Given the description of an element on the screen output the (x, y) to click on. 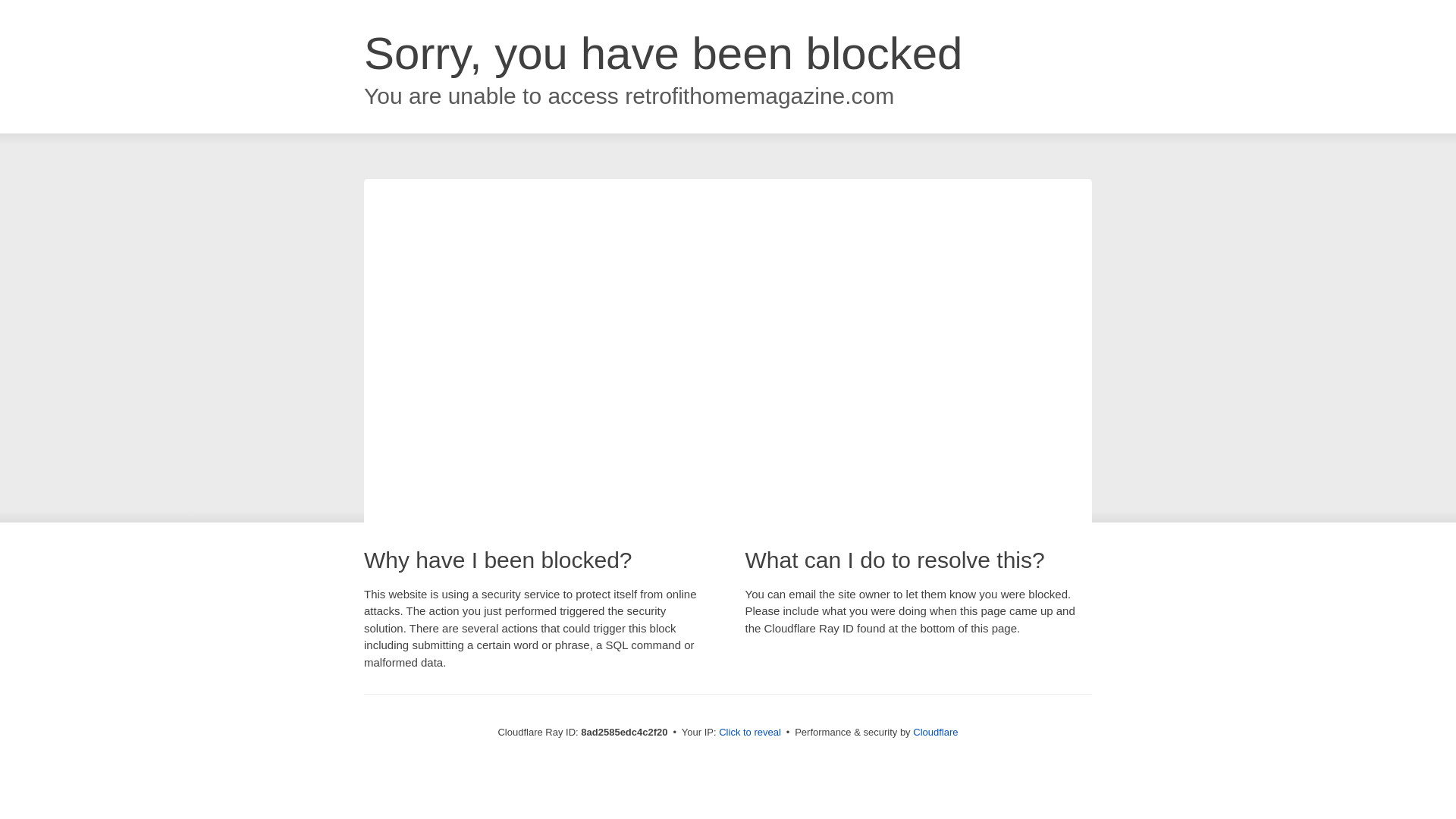
Click to reveal (749, 732)
Cloudflare (935, 731)
